Given the description of an element on the screen output the (x, y) to click on. 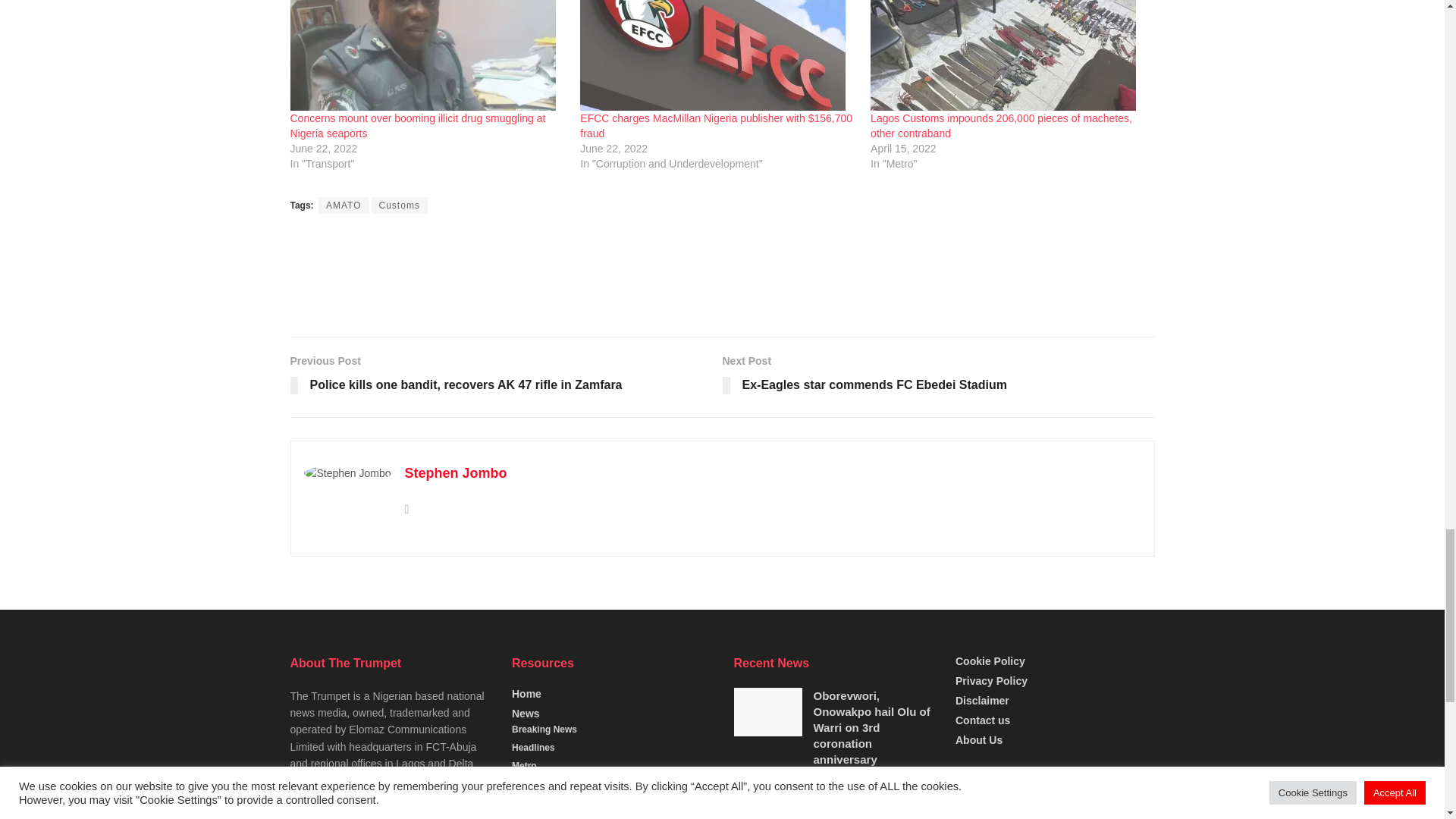
Advertisement (721, 274)
